Given the description of an element on the screen output the (x, y) to click on. 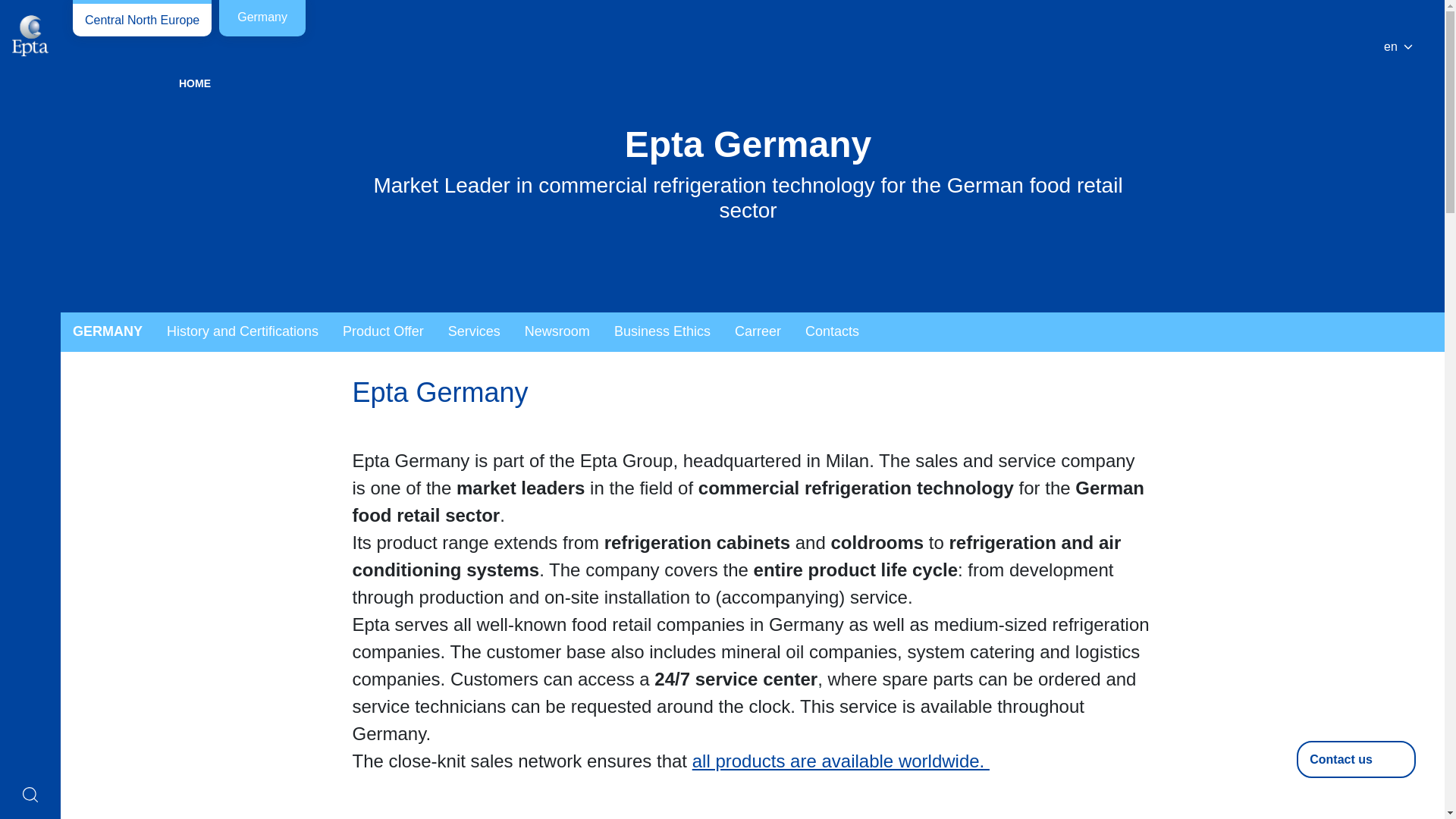
all products are available worldwide.  (841, 761)
History and Certifications (242, 332)
Central North Europe (141, 18)
Product Offer (382, 332)
Expand menu Germany (107, 332)
Business Ethics (662, 332)
Newsroom (557, 332)
Skip to main content (60, 10)
Germany (262, 18)
Carreer (757, 332)
